Given the description of an element on the screen output the (x, y) to click on. 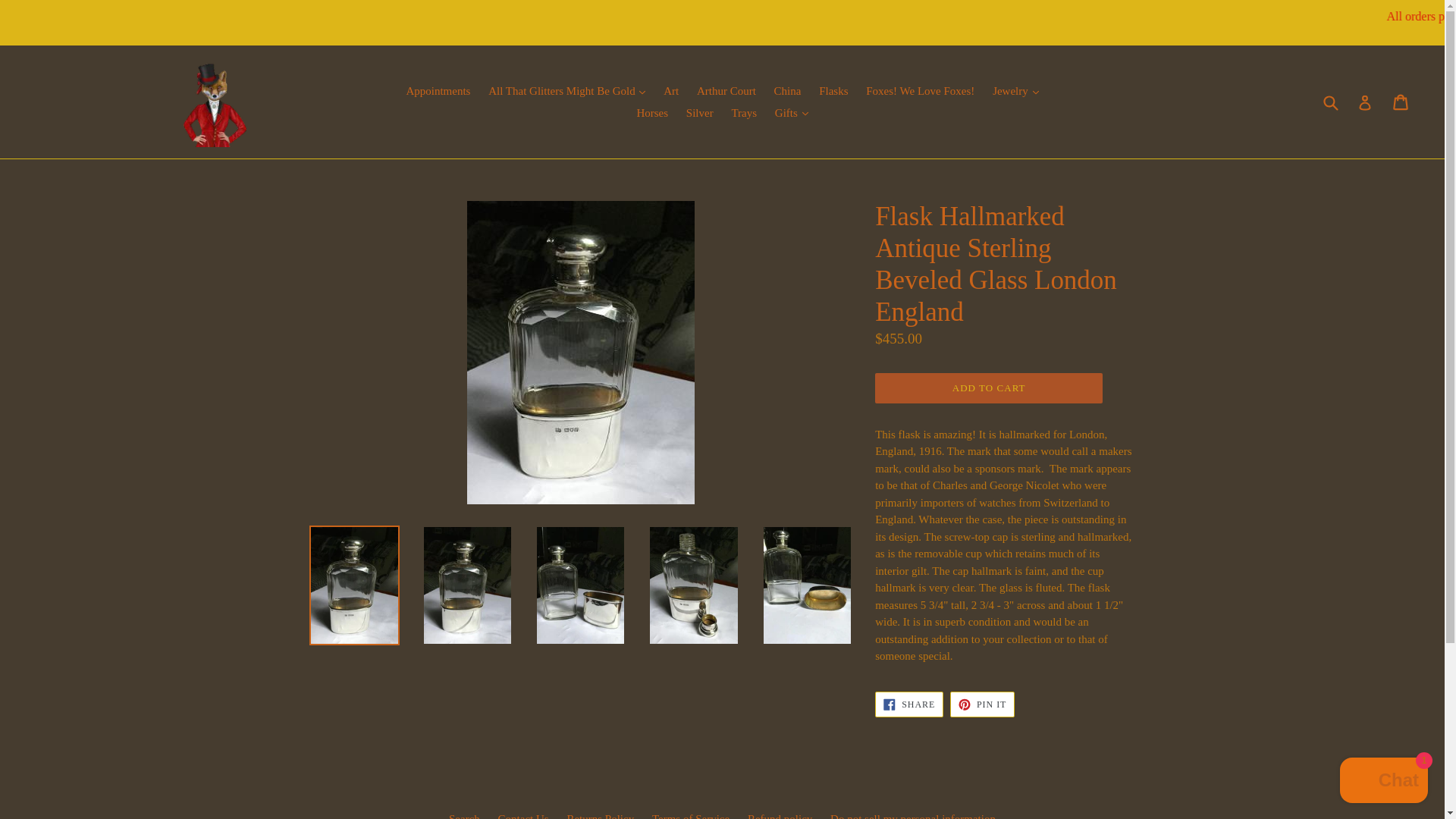
Pin on Pinterest (982, 704)
Shopify online store chat (1383, 781)
Share on Facebook (909, 704)
